Given the description of an element on the screen output the (x, y) to click on. 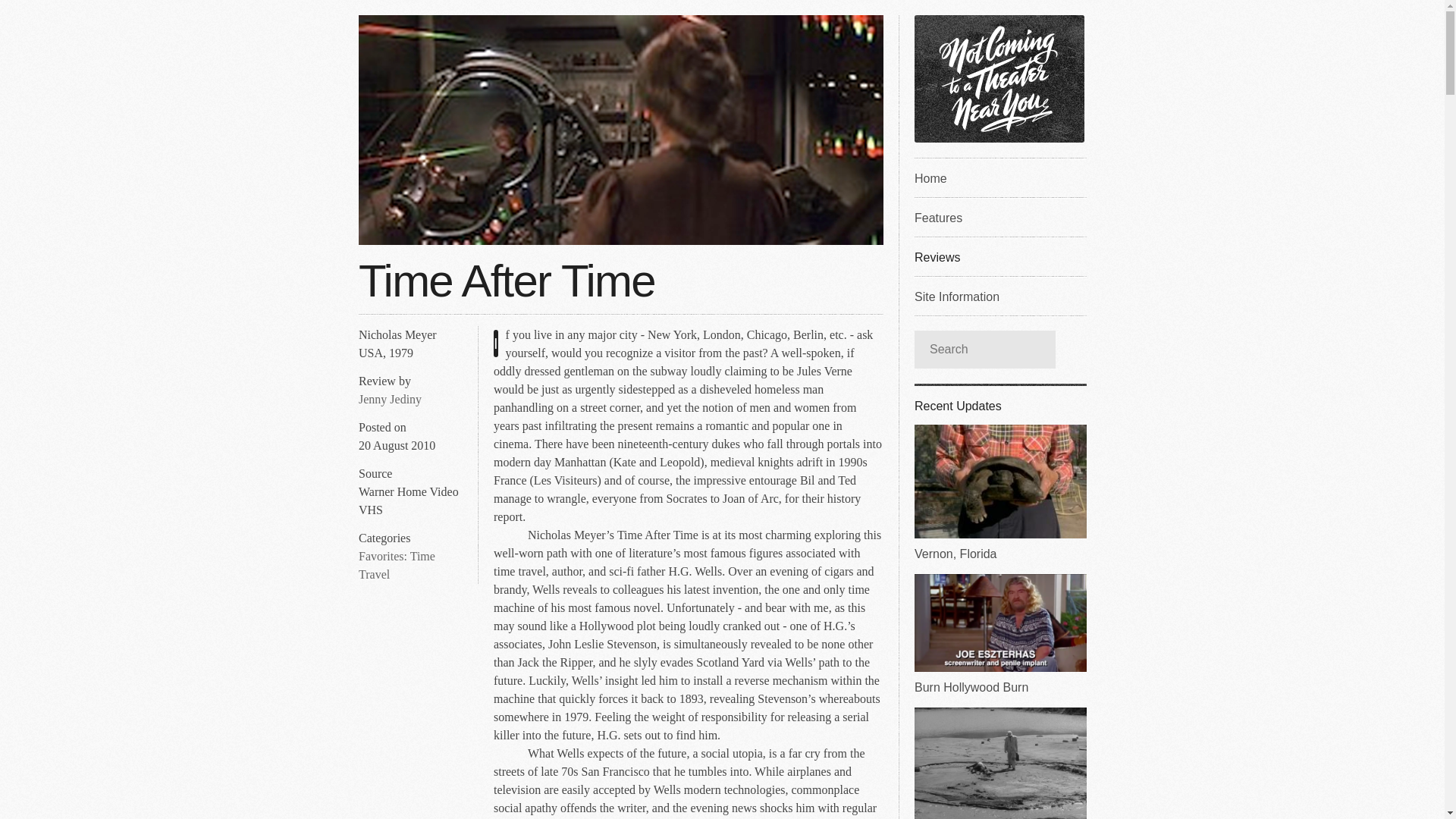
Site Index (1000, 177)
Reviews (1000, 256)
Reviews (1000, 256)
Favorites: Time Travel (396, 565)
Home (1000, 177)
Vernon, Florida (1000, 493)
Features (1000, 216)
Jenny Jediny (390, 399)
Site Information (1000, 295)
Site Information (1000, 295)
